Given the description of an element on the screen output the (x, y) to click on. 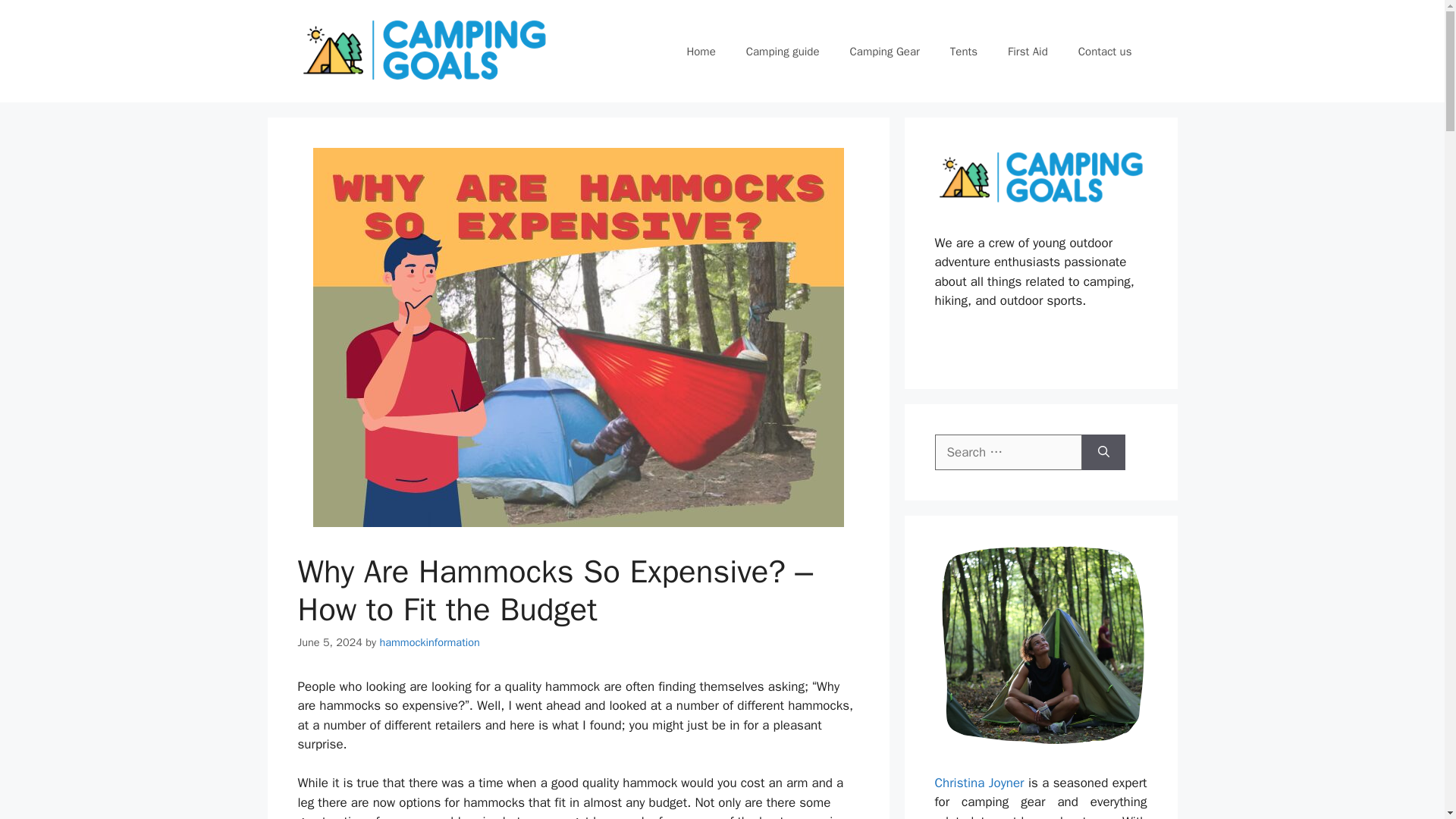
Tents (963, 51)
hammockinformation (428, 642)
View all posts by hammockinformation (428, 642)
Home (700, 51)
Camping guide (782, 51)
Camping Gear (884, 51)
Search for: (1007, 452)
First Aid (1027, 51)
Contact us (1104, 51)
